Given the description of an element on the screen output the (x, y) to click on. 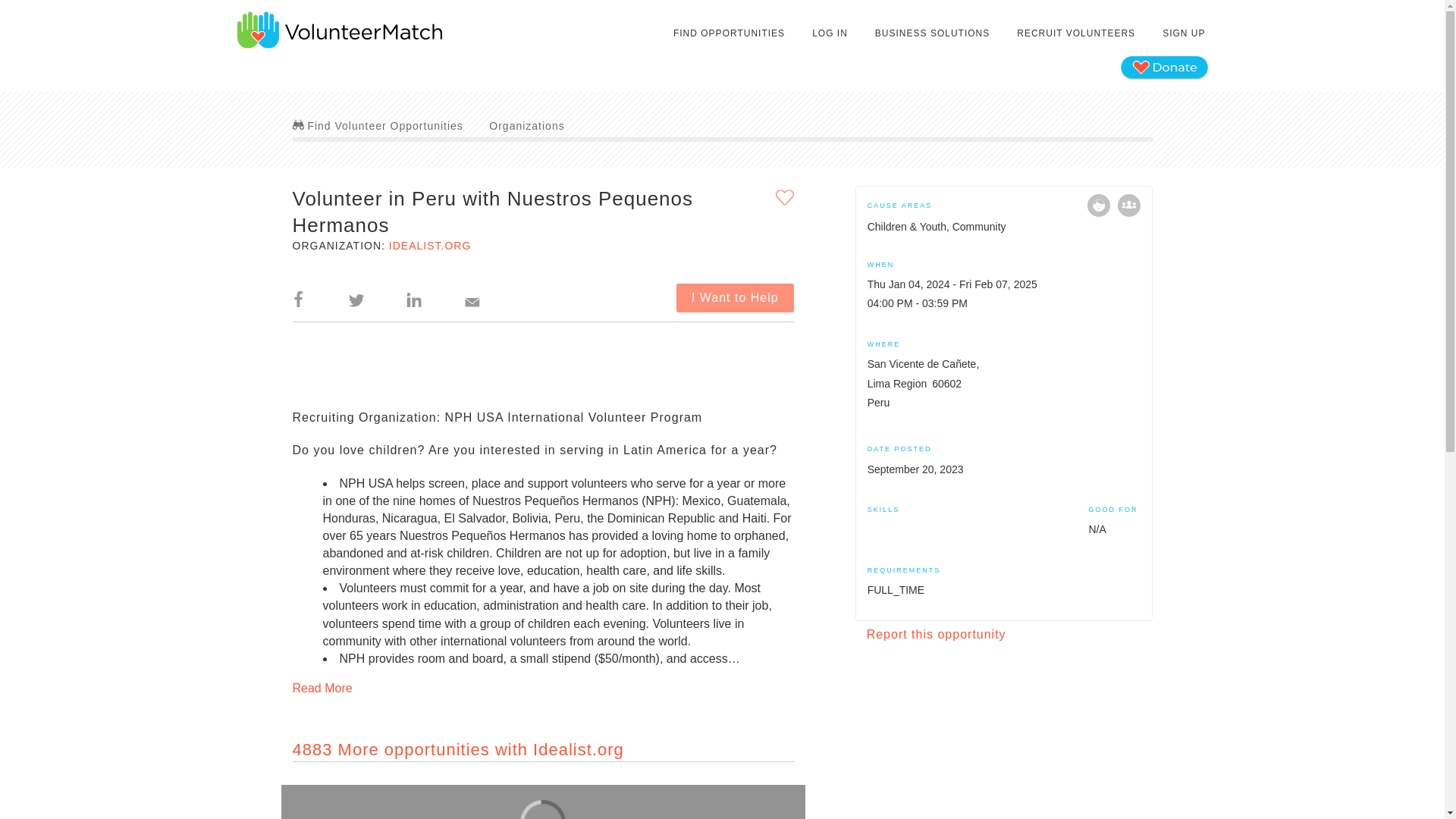
4883 More opportunities with Idealist.org (458, 749)
Organizations (526, 125)
BUSINESS SOLUTIONS (931, 32)
I Want to Help (735, 297)
Find Volunteer Opportunities (377, 125)
Report this opportunity (936, 634)
Opens a widget where you can find more information (57, 792)
Community (1129, 205)
SIGN UP (1183, 32)
FIND OPPORTUNITIES (729, 32)
RECRUIT VOLUNTEERS (1075, 32)
IDEALIST.ORG (429, 245)
LOG IN (829, 32)
I Want to Help (735, 297)
